Given the description of an element on the screen output the (x, y) to click on. 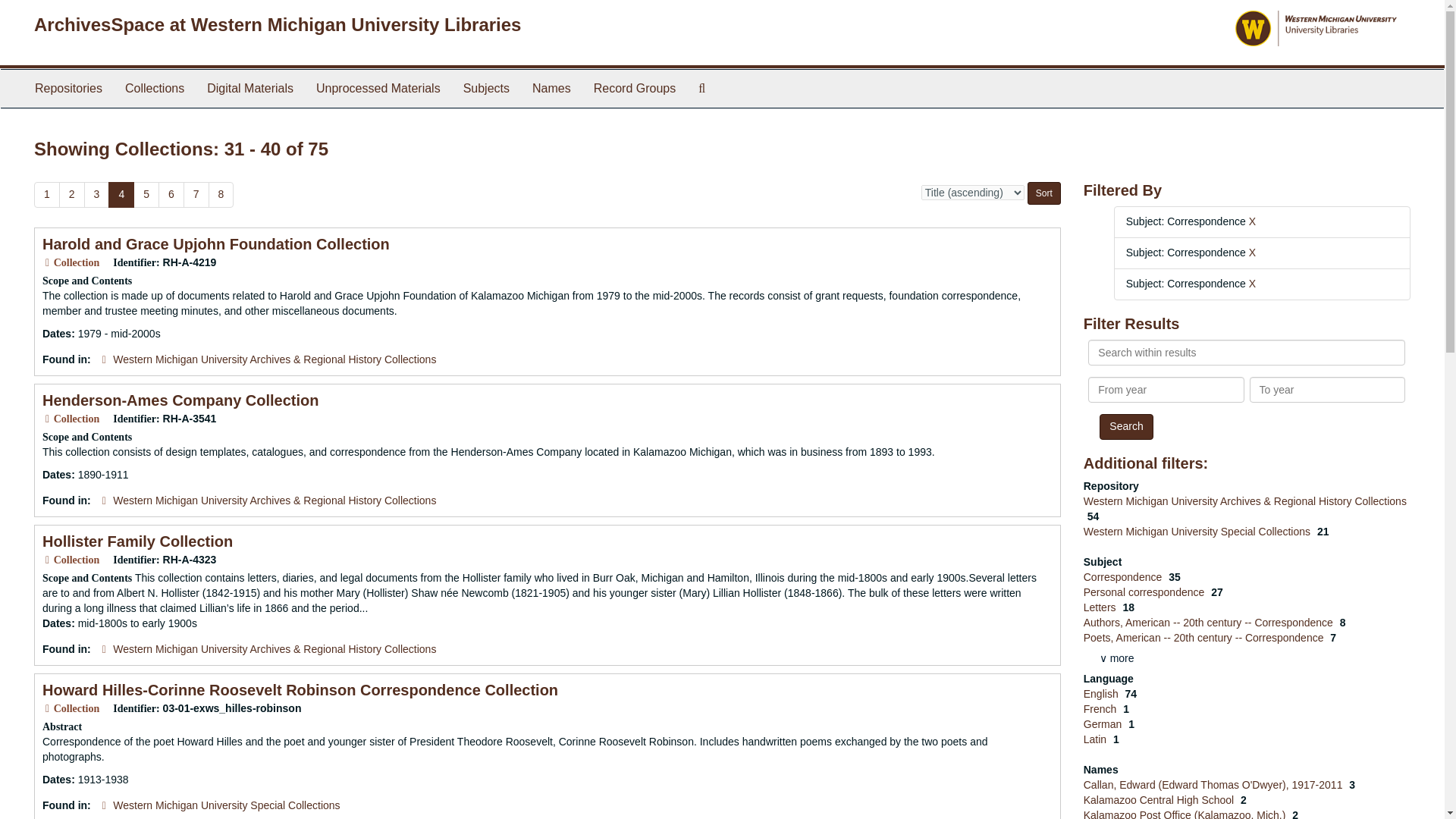
7 (196, 194)
5 (145, 194)
Subjects (486, 88)
Repositories (68, 88)
Collections (154, 88)
Henderson-Ames Company Collection (180, 400)
Digital Materials (249, 88)
2 (71, 194)
Sort (1044, 192)
Western Michigan University Special Collections (226, 805)
